Given the description of an element on the screen output the (x, y) to click on. 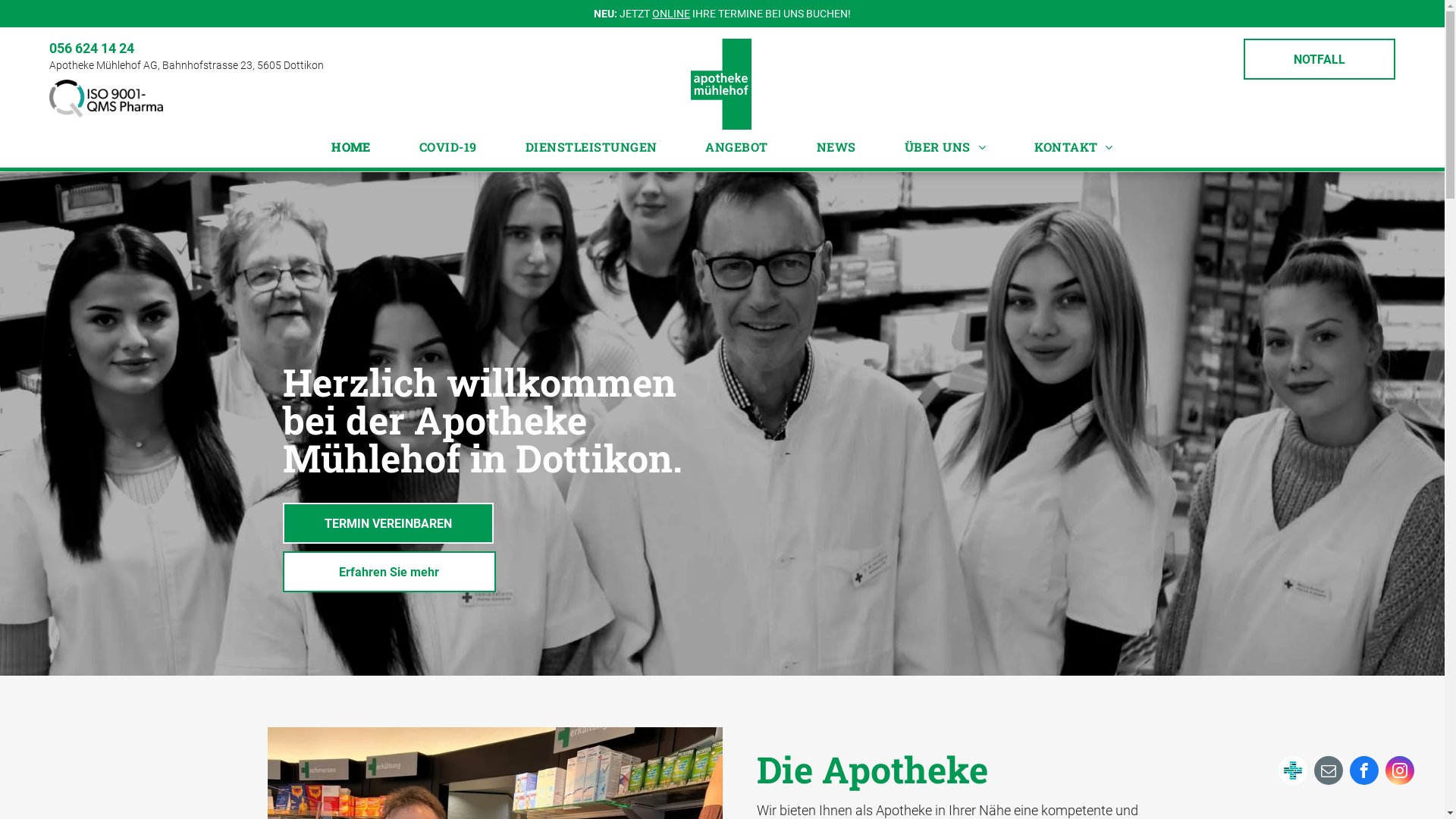
HOME Element type: text (350, 146)
KONTAKT Element type: text (1073, 146)
TERMIN VEREINBAREN Element type: text (387, 522)
ANGEBOT Element type: text (736, 146)
DIENSTLEISTUNGEN Element type: text (591, 146)
NOTFALL Element type: text (1319, 58)
Erfahren Sie mehr Element type: text (388, 571)
COVID-19 Element type: text (447, 146)
NEWS Element type: text (835, 146)
ONLINE Element type: text (671, 13)
